Given the description of an element on the screen output the (x, y) to click on. 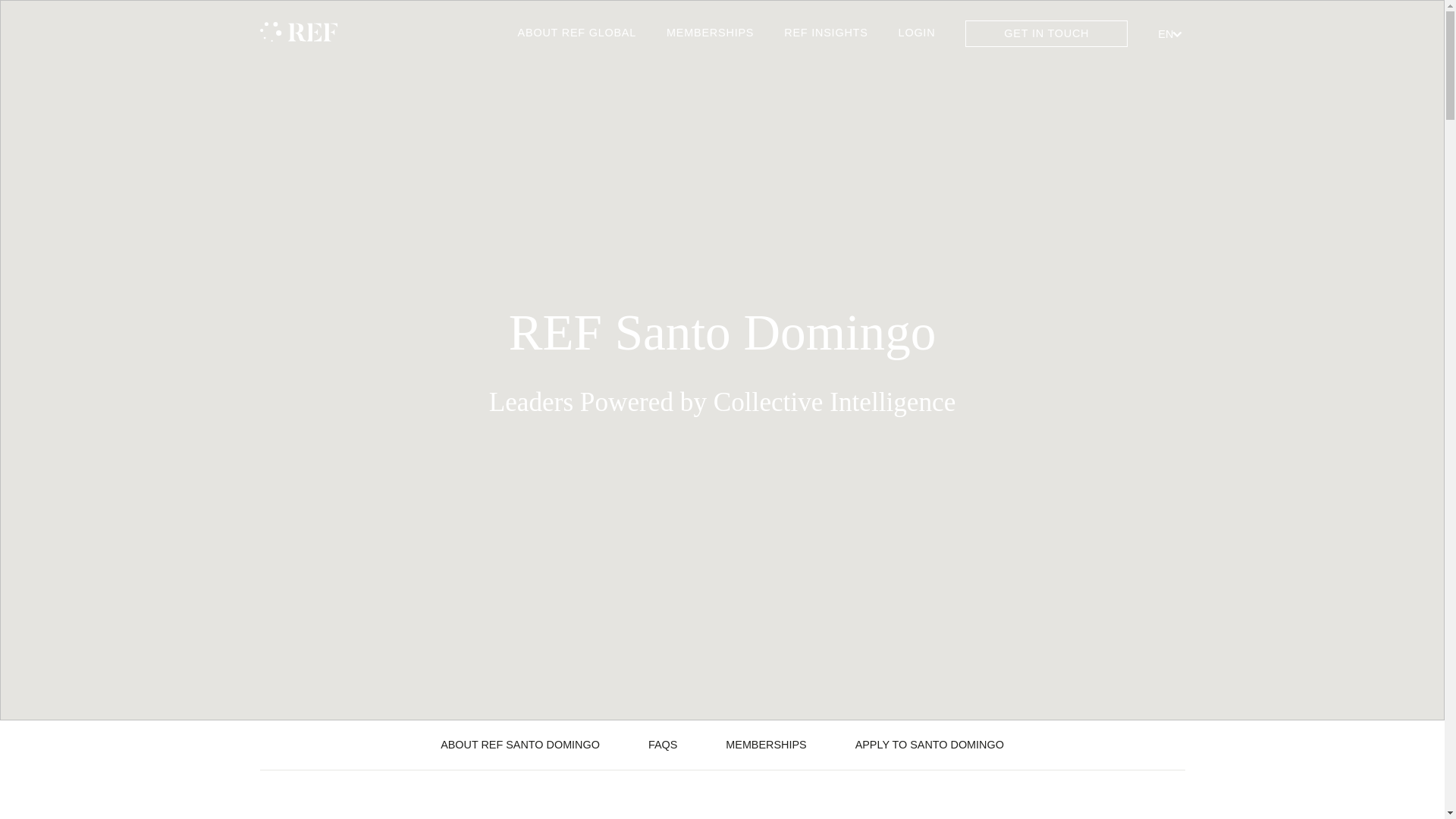
APPLY TO SANTO DOMINGO (929, 744)
FAQS (662, 744)
EN (1170, 32)
REF (298, 33)
REF INSIGHTS (825, 32)
ABOUT REF SANTO DOMINGO (520, 744)
MEMBERSHIPS (765, 744)
ABOUT REF GLOBAL (576, 32)
GET IN TOUCH (1046, 33)
MEMBERSHIPS (709, 32)
LOGIN (916, 32)
